Given the description of an element on the screen output the (x, y) to click on. 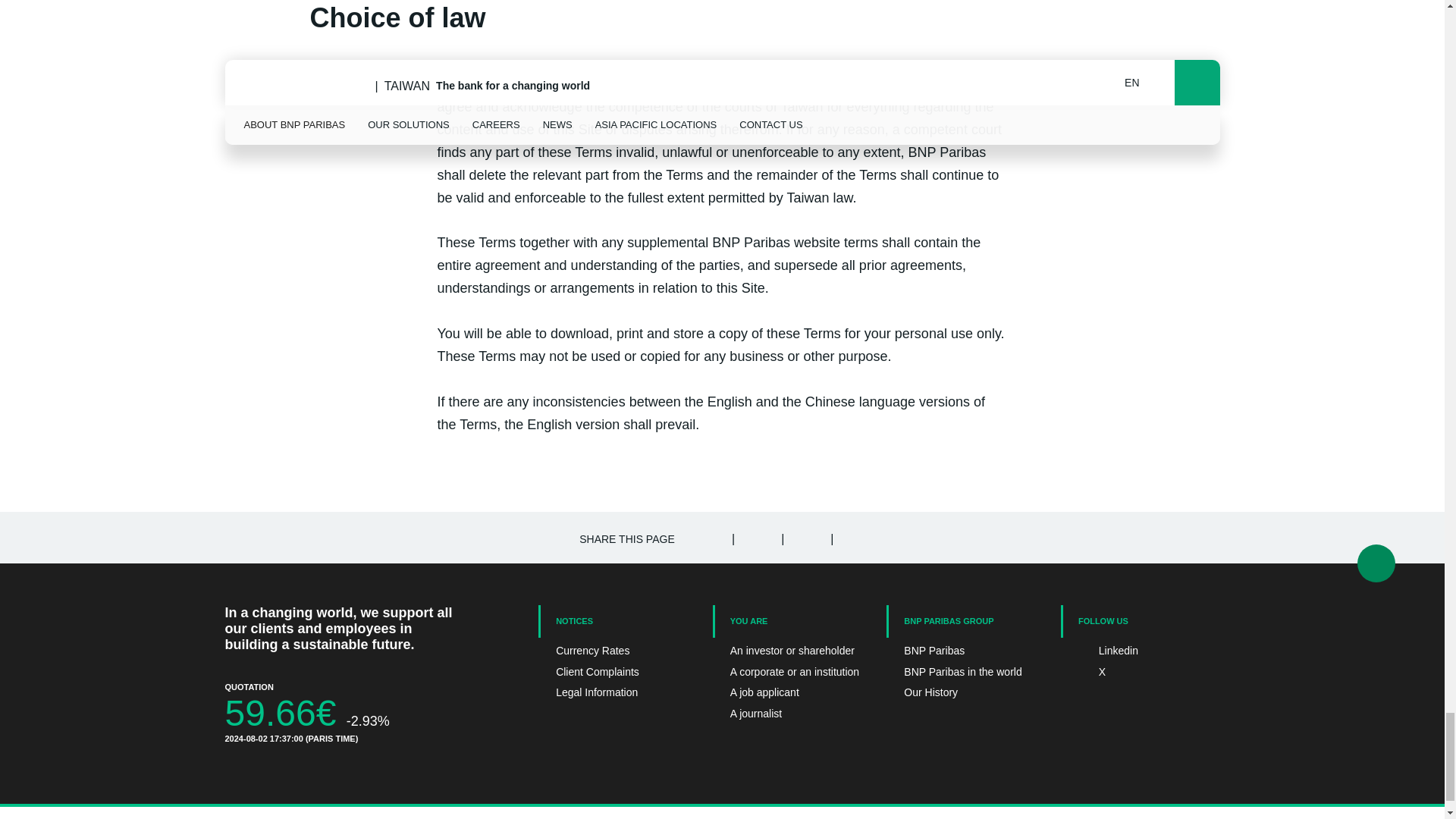
Our History - New window (965, 693)
Share by email (853, 537)
An investor or shareholder - New window (792, 651)
Scroll back to top (1375, 563)
BNP Paribas - New window (965, 651)
